Given the description of an element on the screen output the (x, y) to click on. 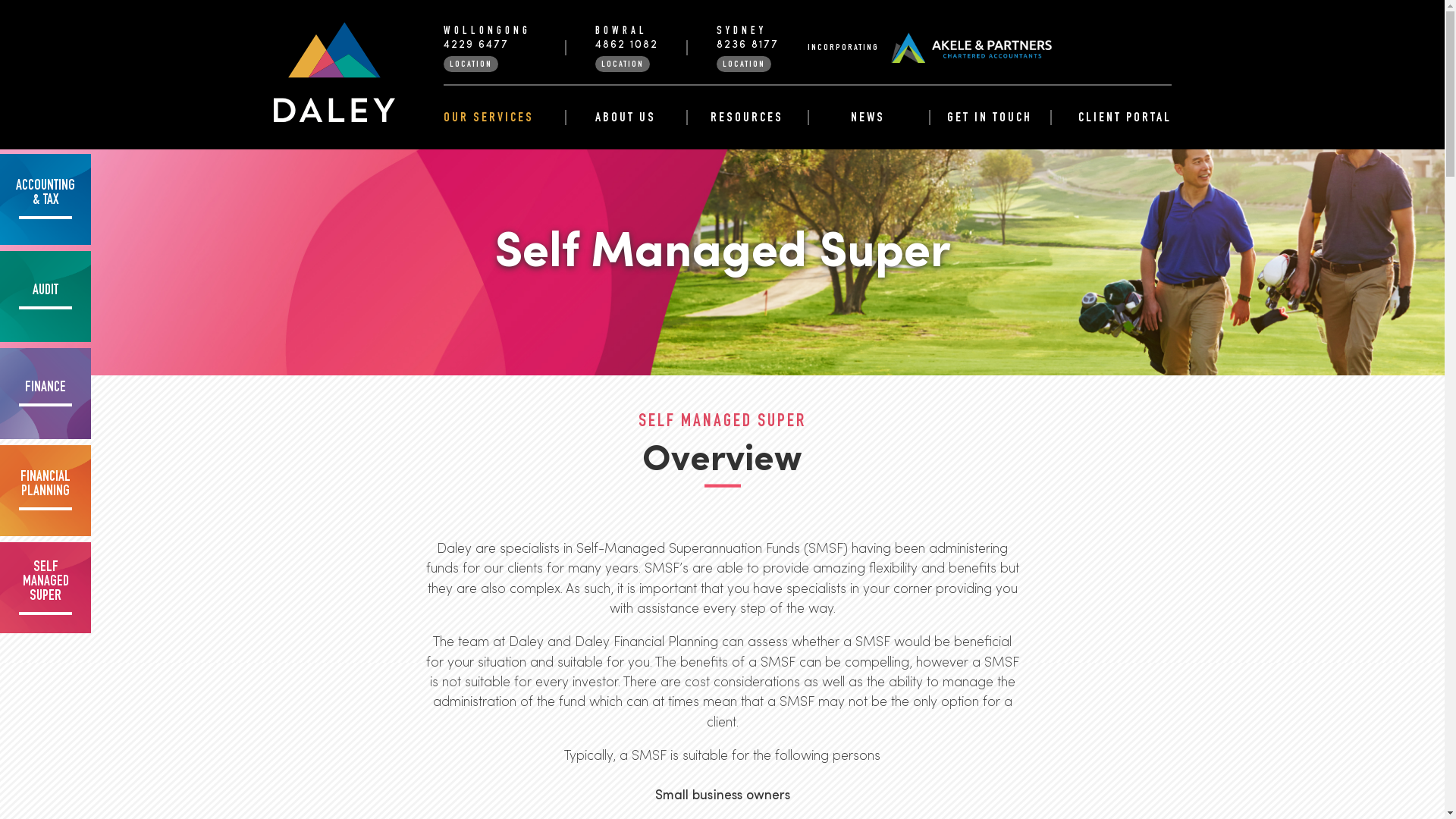
ACCOUNTING & TAX Element type: text (45, 198)
NEWS Element type: text (867, 117)
4862 1082 Element type: text (625, 45)
4229 6477 Element type: text (475, 45)
LOCATION Element type: text (469, 64)
CLIENT PORTAL Element type: text (1109, 117)
LOCATION Element type: text (621, 64)
GET IN TOUCH Element type: text (988, 117)
RESOURCES Element type: text (745, 117)
OUR SERVICES Element type: text (503, 117)
AUDIT Element type: text (45, 296)
8236 8177 Element type: text (746, 45)
LOCATION Element type: text (742, 64)
SELF MANAGED SUPER Element type: text (45, 587)
ABOUT US Element type: text (624, 117)
FINANCE Element type: text (45, 393)
FINANCIAL PLANNING Element type: text (45, 490)
